Given the description of an element on the screen output the (x, y) to click on. 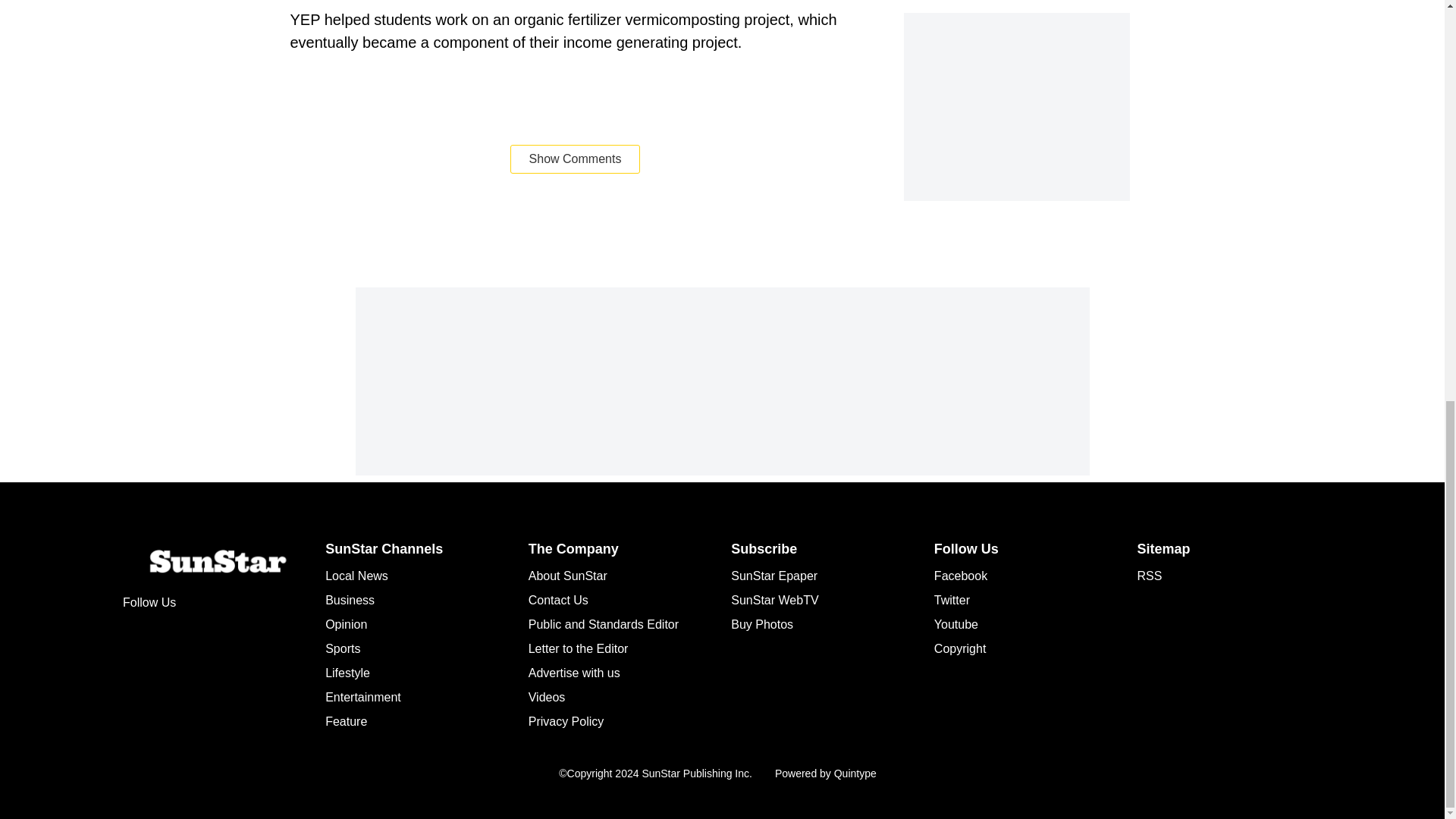
Local News (356, 575)
Opinion (345, 624)
Sports (341, 648)
Show Comments (575, 158)
Business (349, 599)
